Given the description of an element on the screen output the (x, y) to click on. 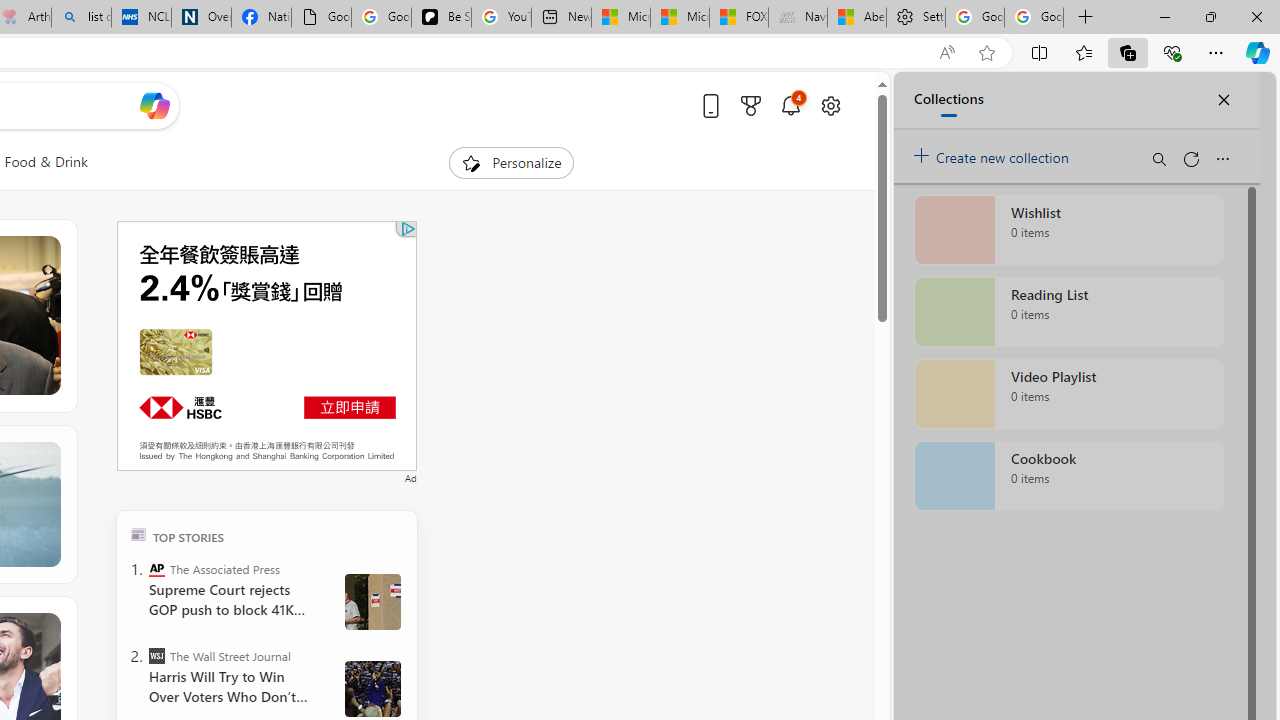
Class: qc-adchoices-icon (407, 228)
